Given the description of an element on the screen output the (x, y) to click on. 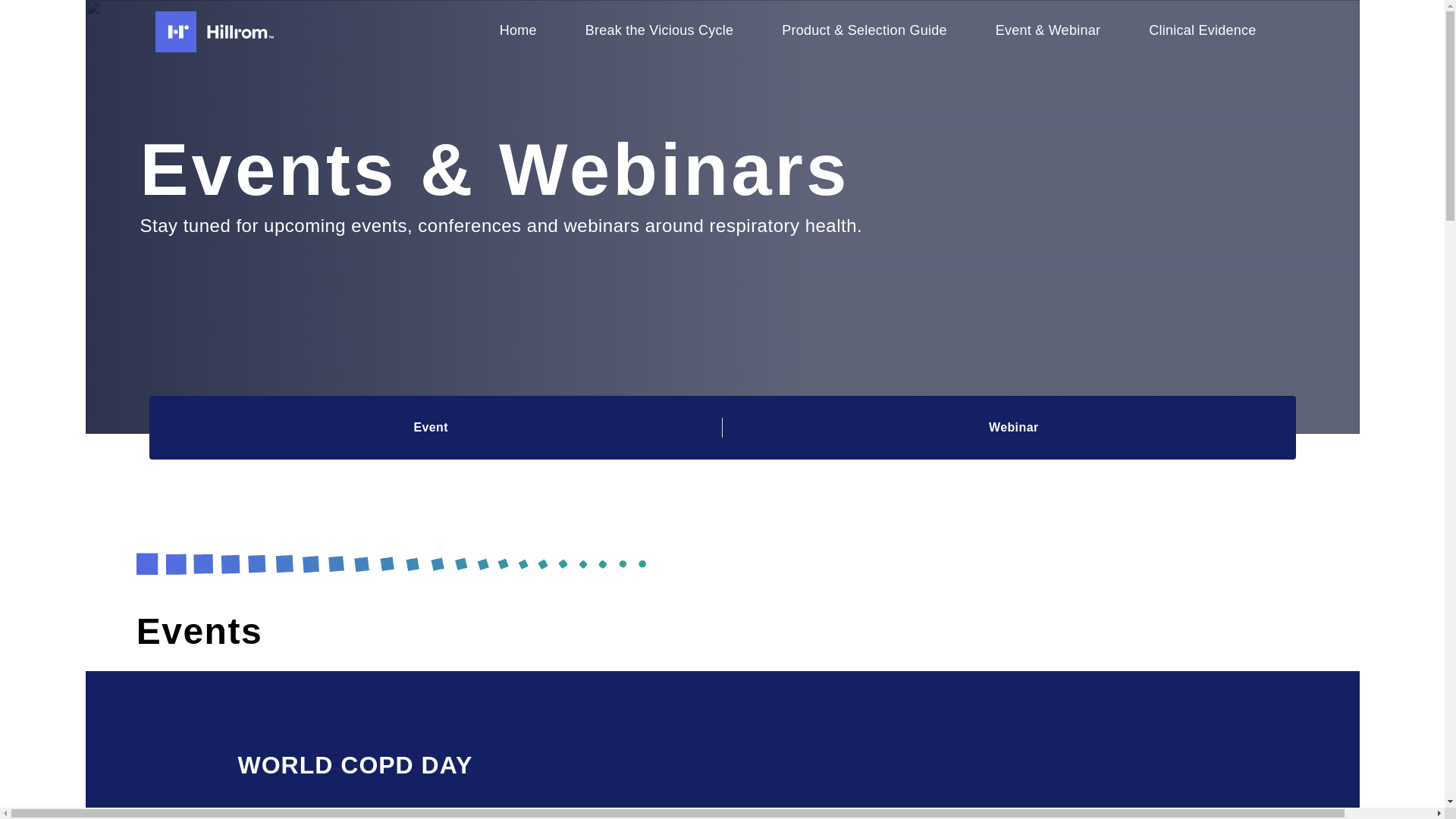
Webinar (1013, 427)
Home (518, 31)
Event (430, 427)
Clinical Evidence (1202, 31)
Break the Vicious Cycle (659, 31)
